Given the description of an element on the screen output the (x, y) to click on. 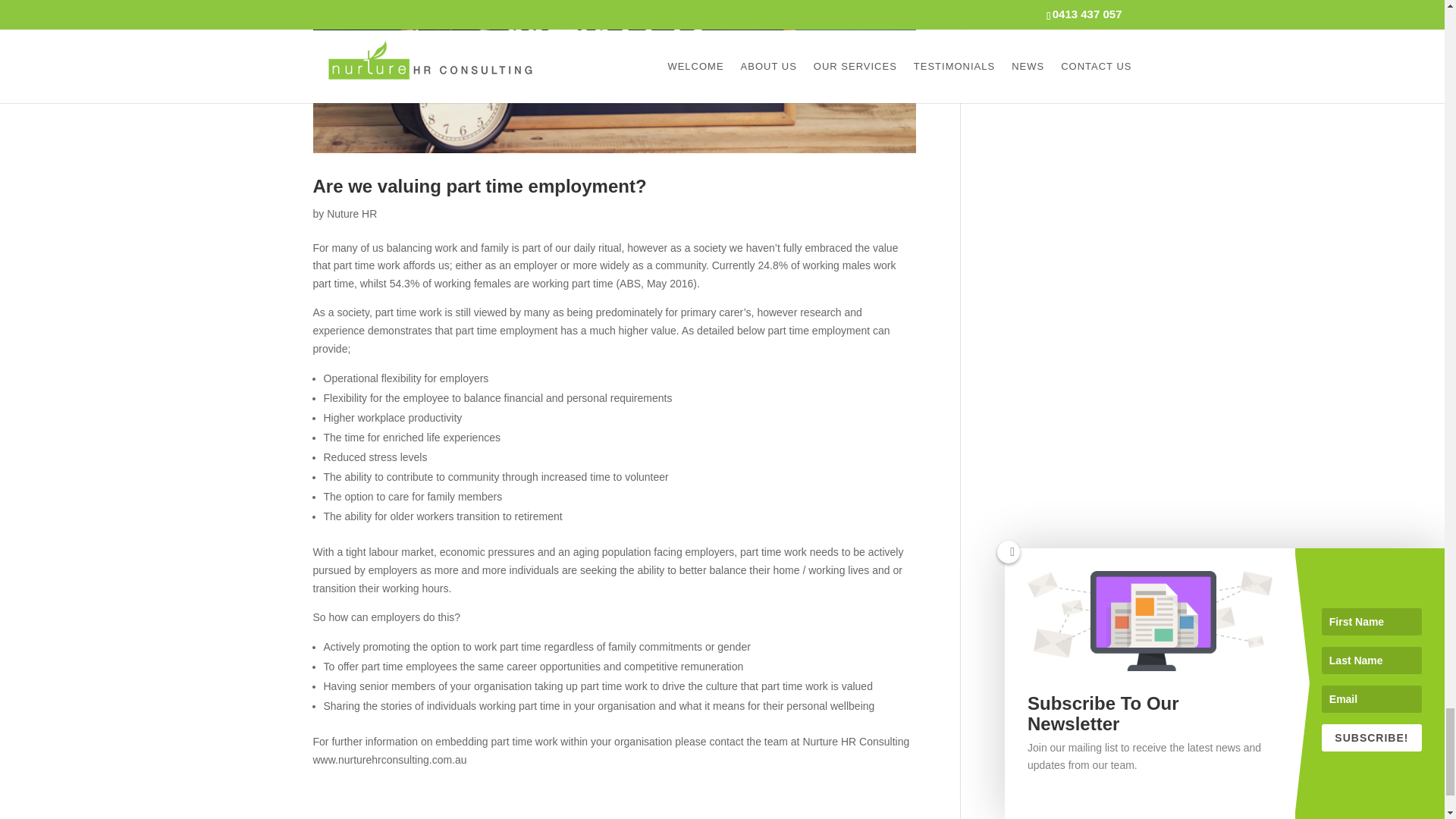
Posts by Nuture HR (351, 214)
Nuture HR (351, 214)
Are we valuing part time employment? (479, 186)
